Given the description of an element on the screen output the (x, y) to click on. 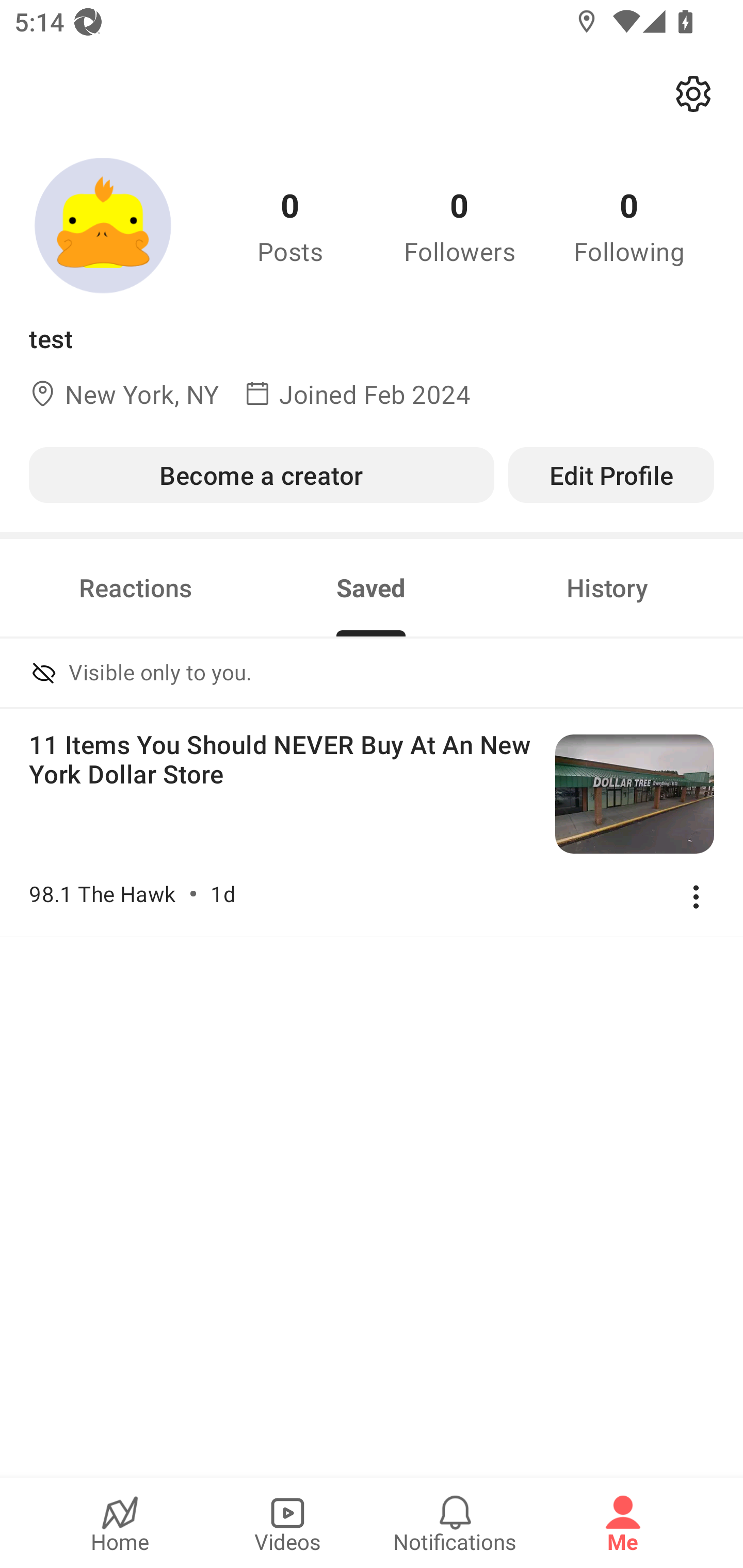
0 Followers (459, 225)
0 Following (629, 225)
Become a creator (261, 474)
Edit Profile (611, 474)
Reactions (135, 587)
History (606, 587)
Home (119, 1522)
Videos (287, 1522)
Notifications (455, 1522)
